Given the description of an element on the screen output the (x, y) to click on. 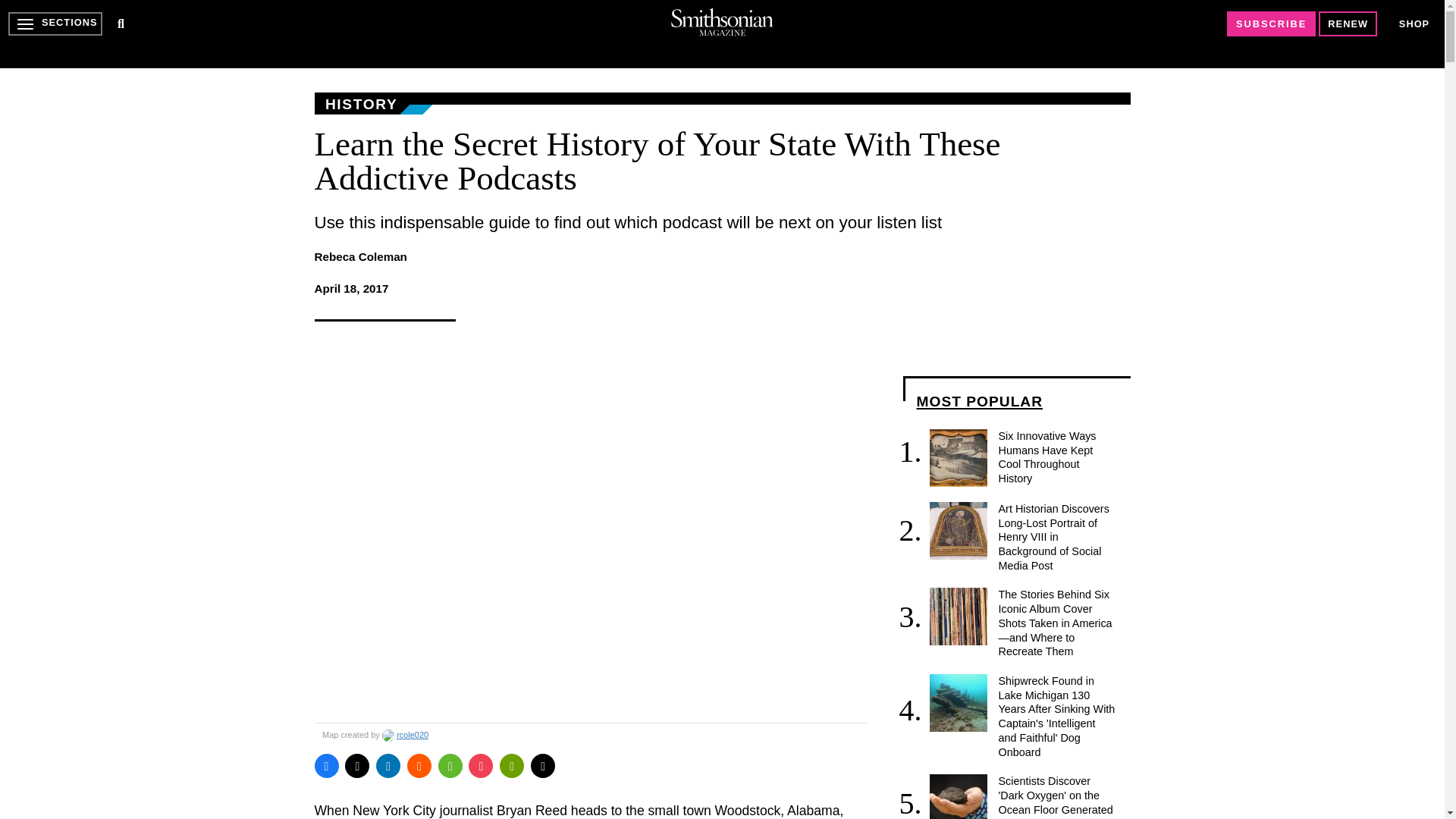
Pocket (480, 765)
Email (542, 765)
SUBSCRIBE (1271, 23)
SUBSCRIBE (1271, 23)
SECTIONS (55, 23)
Print (511, 765)
SHOP (1414, 23)
SHOP (1413, 23)
WhatsApp (450, 765)
LinkedIn (387, 765)
